Given the description of an element on the screen output the (x, y) to click on. 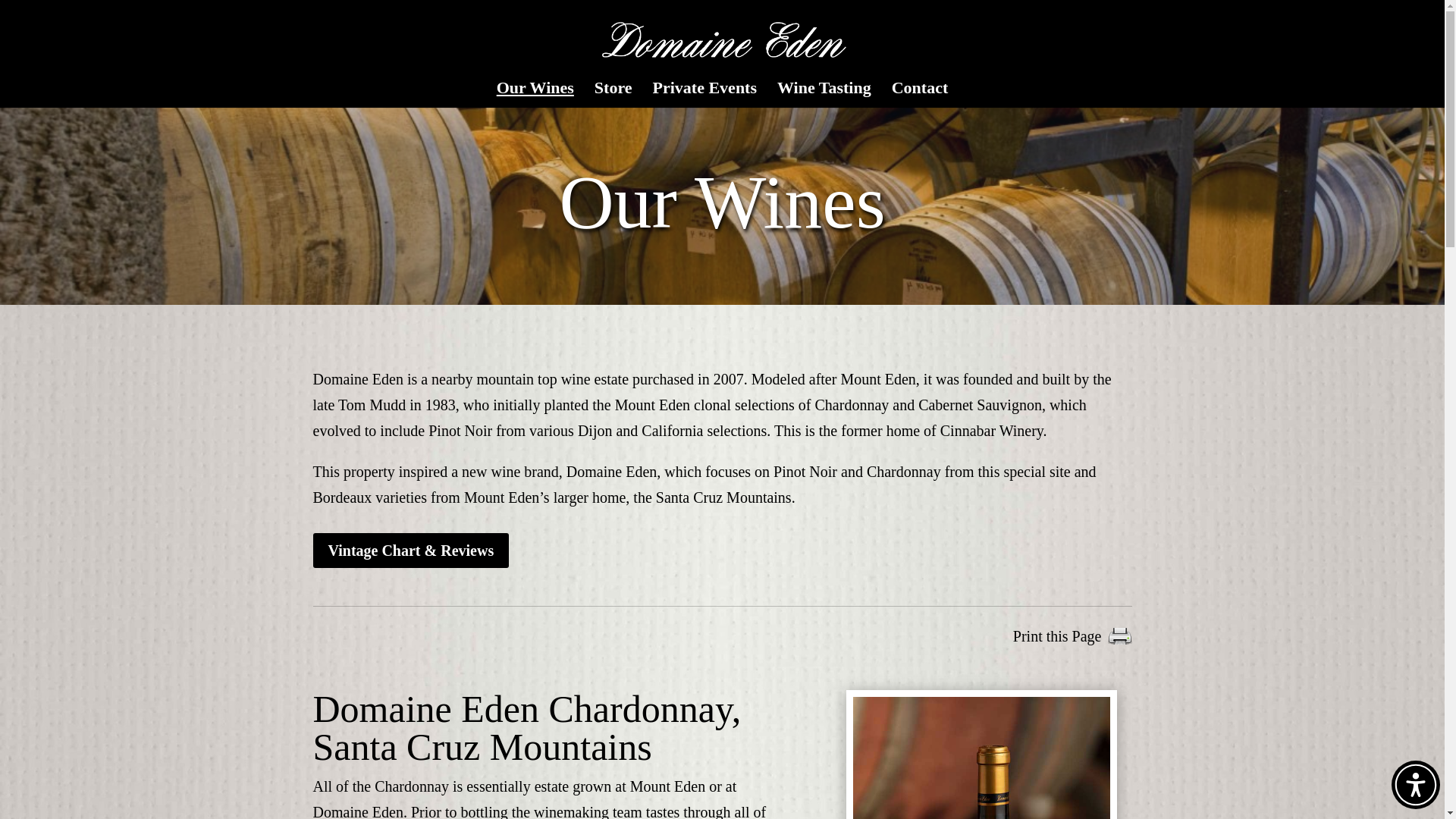
Wine Tasting (823, 94)
Store (612, 94)
Our Wines (534, 94)
Print this Page (1072, 636)
Contact (920, 94)
Accessibility Menu (1415, 784)
Domaine-Chardonnay-Bottle-Shot-web-ready (981, 757)
Private Events (704, 94)
